Given the description of an element on the screen output the (x, y) to click on. 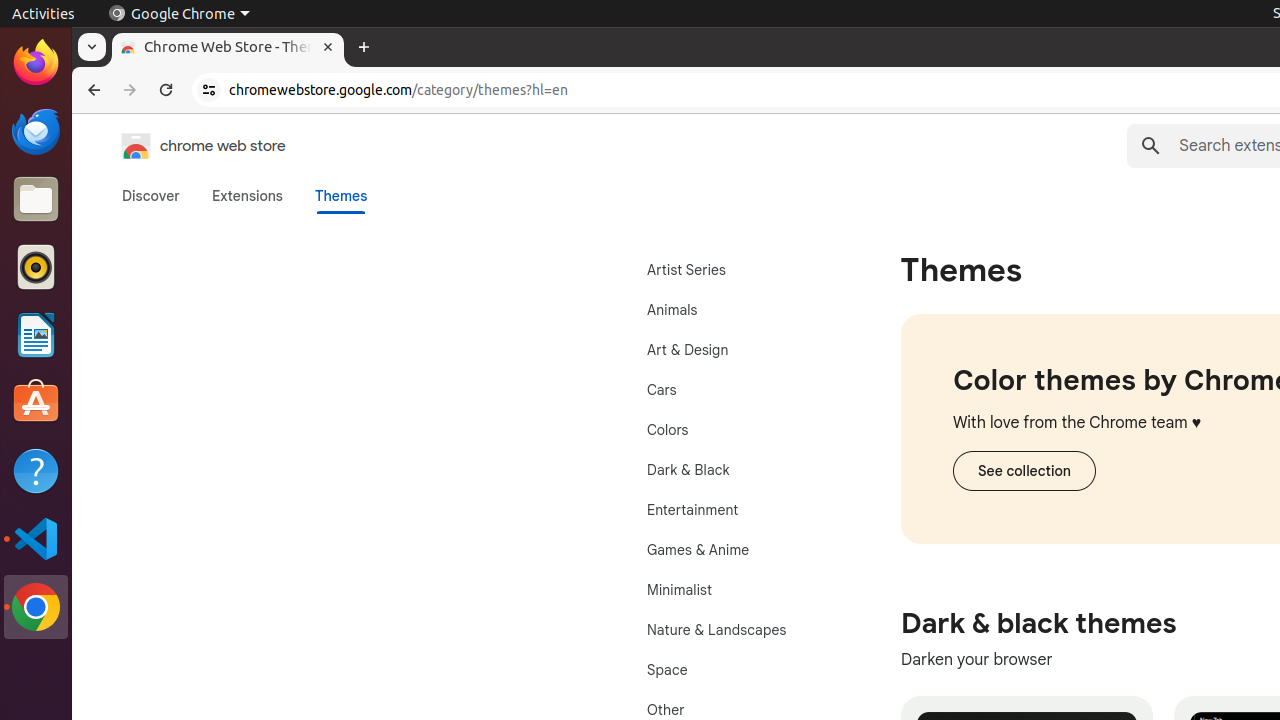
Games & Anime Element type: menu-item (737, 550)
Artist Series Element type: menu-item (737, 270)
Cars Element type: menu-item (737, 389)
Thunderbird Mail Element type: push-button (36, 131)
Rhythmbox Element type: push-button (36, 267)
